Given the description of an element on the screen output the (x, y) to click on. 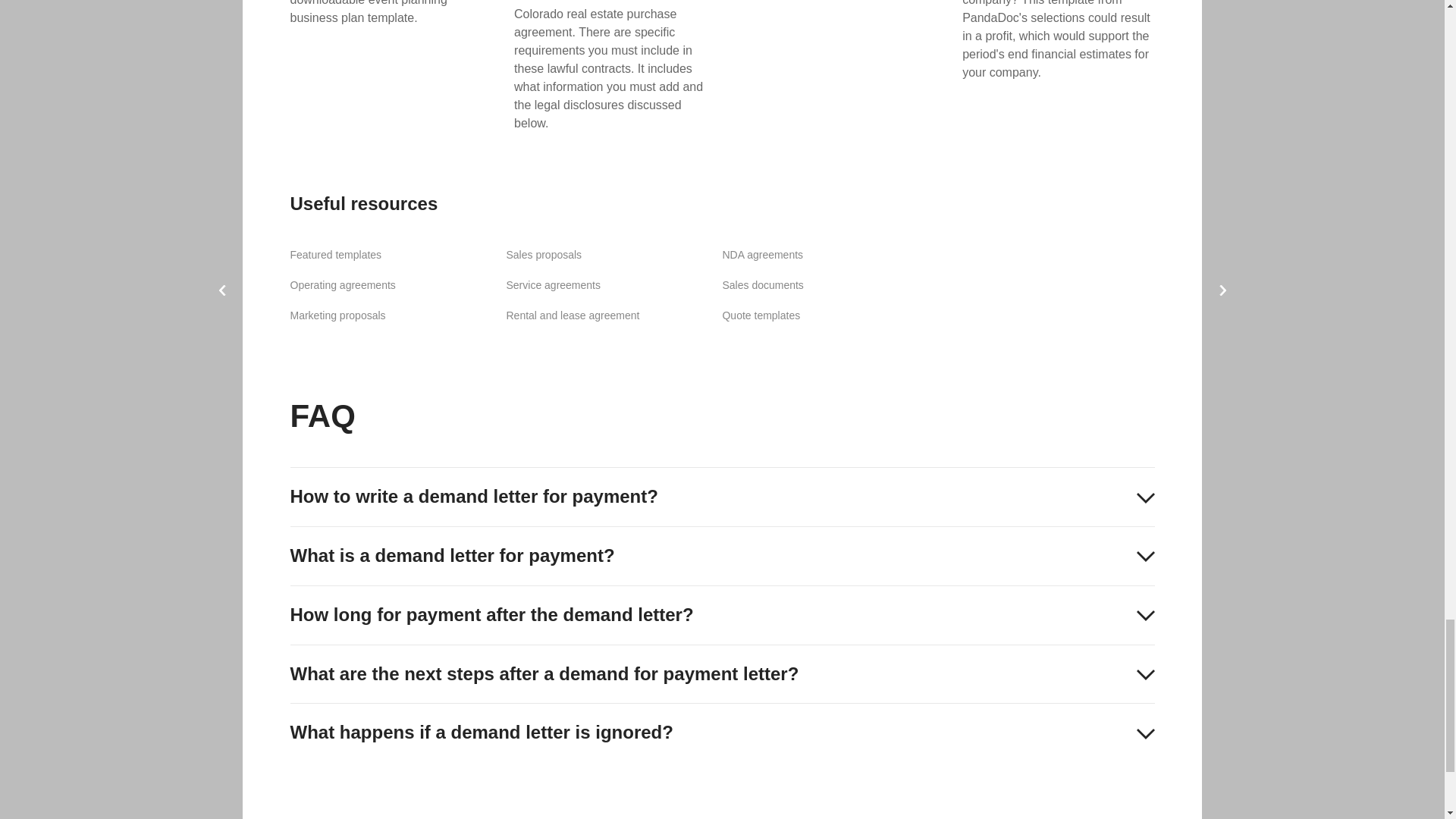
Sales proposals (542, 254)
Sales documents (762, 285)
Marketing proposals (337, 315)
Rental and lease agreement (572, 315)
Featured templates (335, 254)
NDA agreements (762, 254)
What are the next steps after a demand for payment letter? (721, 674)
What happens if a demand letter is ignored? (721, 732)
How long for payment after the demand letter? (721, 615)
Operating agreements (341, 285)
What is a demand letter for payment? (721, 556)
Service agreements (552, 285)
Quote templates (760, 315)
How to write a demand letter for payment? (721, 496)
